Given the description of an element on the screen output the (x, y) to click on. 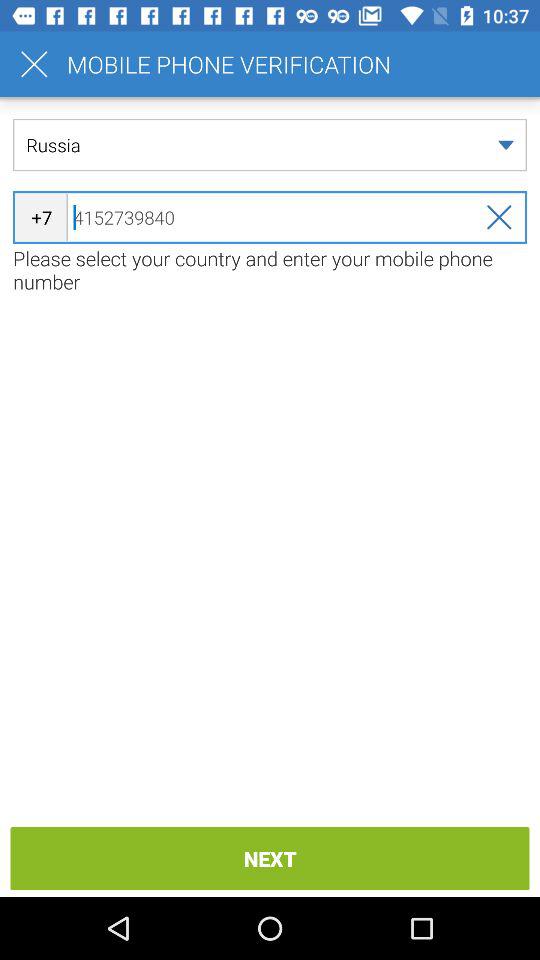
launch icon below the russia icon (269, 217)
